Given the description of an element on the screen output the (x, y) to click on. 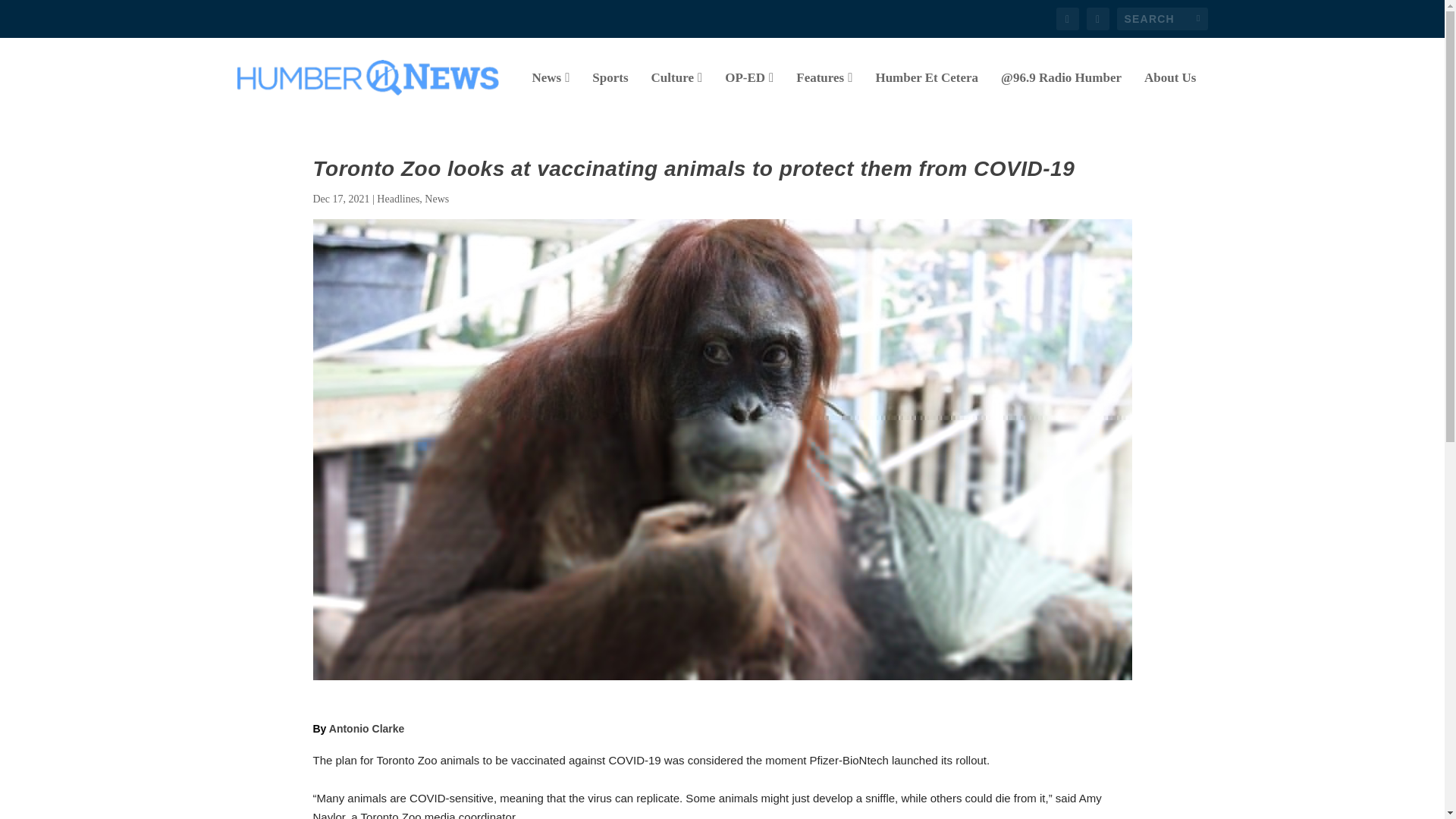
Culture (676, 94)
News (436, 198)
About Us (1170, 94)
Headlines (398, 198)
OP-ED (749, 94)
Antonio Clarke (366, 728)
Features (823, 94)
Search for: (1161, 18)
Humber Et Cetera (926, 94)
